Given the description of an element on the screen output the (x, y) to click on. 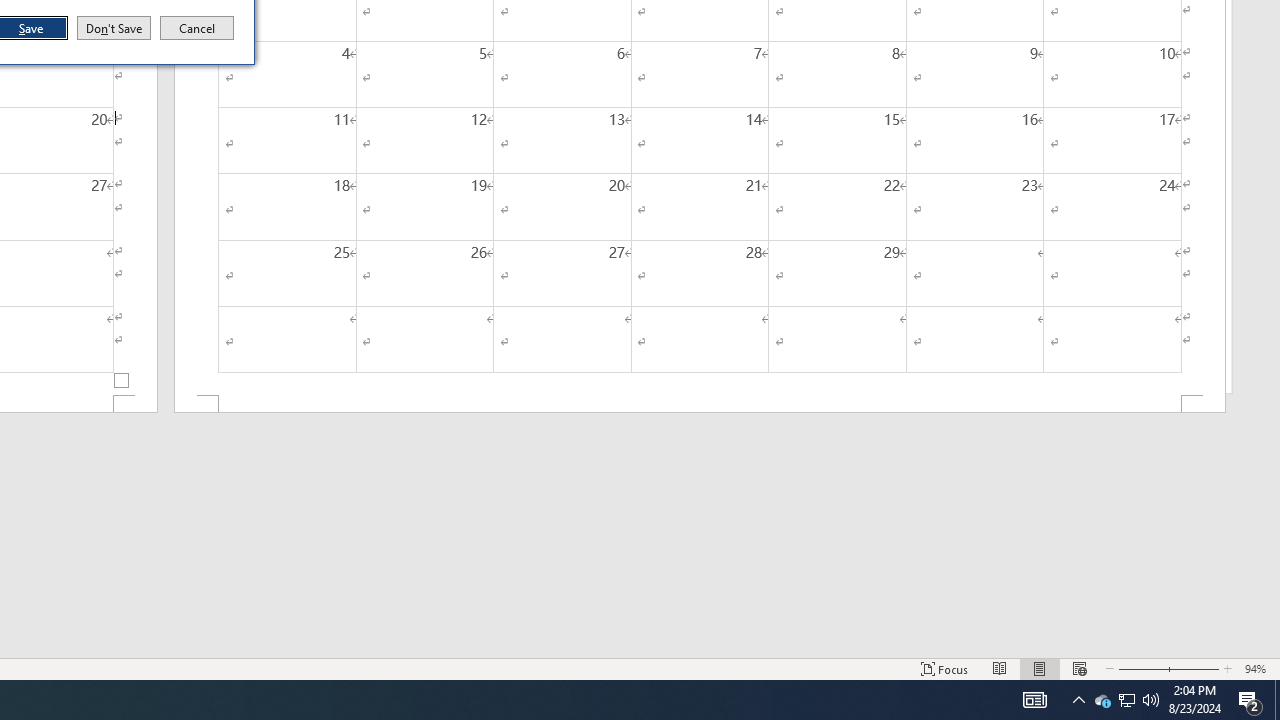
Don't Save (113, 27)
